Given the description of an element on the screen output the (x, y) to click on. 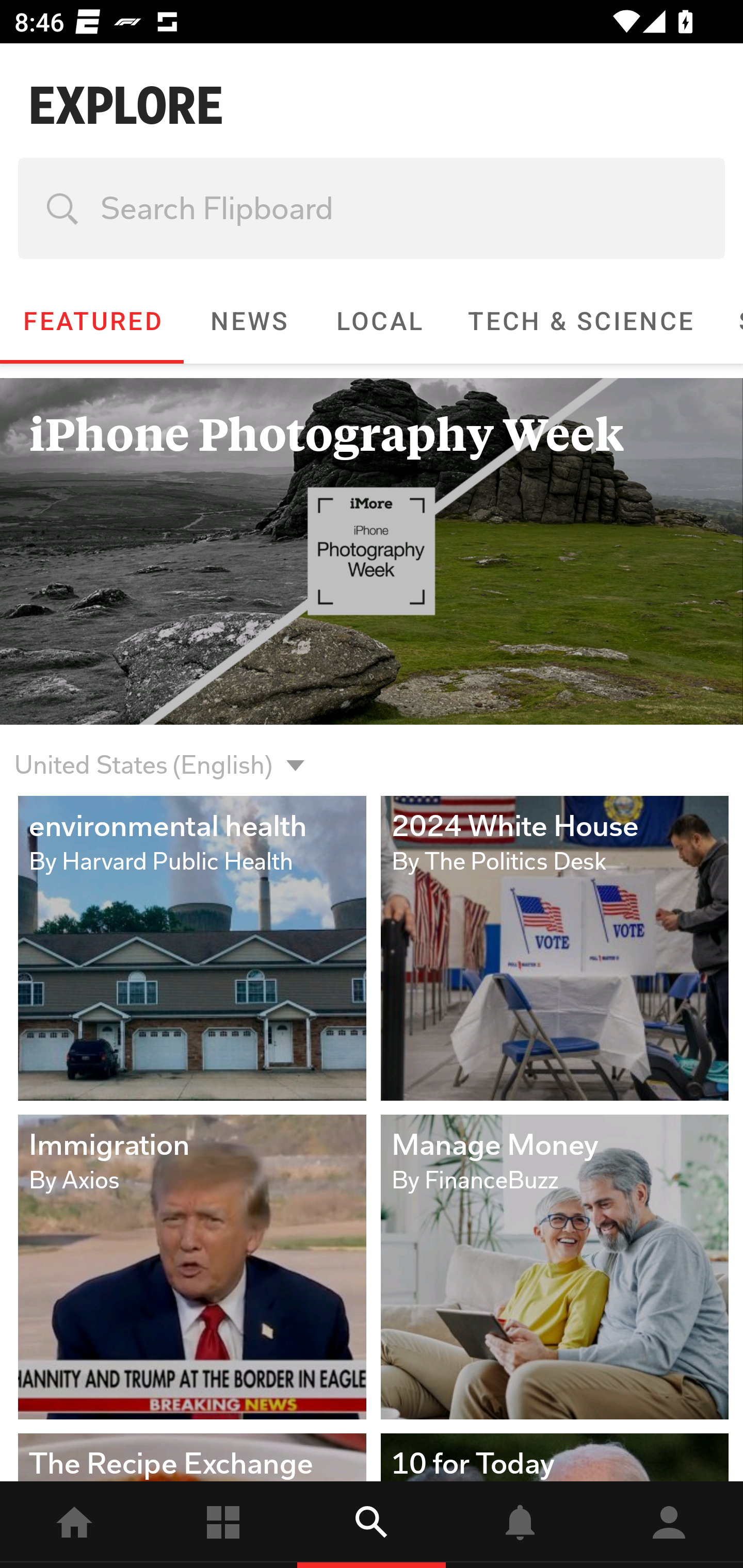
Search Flipboard (371, 208)
News NEWS (248, 320)
Local LOCAL (379, 320)
Tech & Science TECH & SCIENCE (580, 320)
United States (English) (143, 753)
home (74, 1524)
Following (222, 1524)
explore (371, 1524)
Notifications (519, 1524)
Profile (668, 1524)
